Given the description of an element on the screen output the (x, y) to click on. 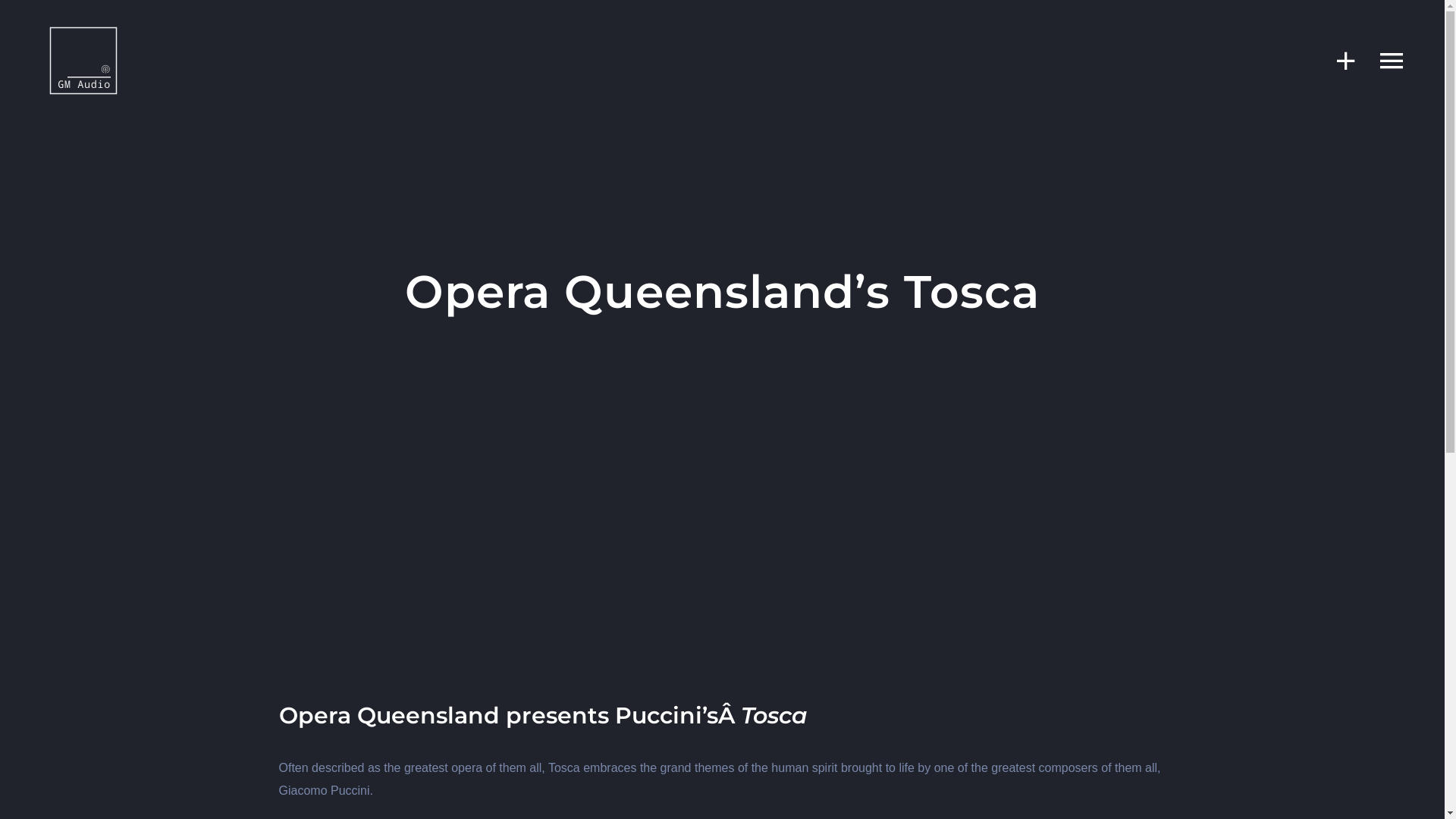
Toggle Sliding Bar Element type: hover (1338, 59)
